Given the description of an element on the screen output the (x, y) to click on. 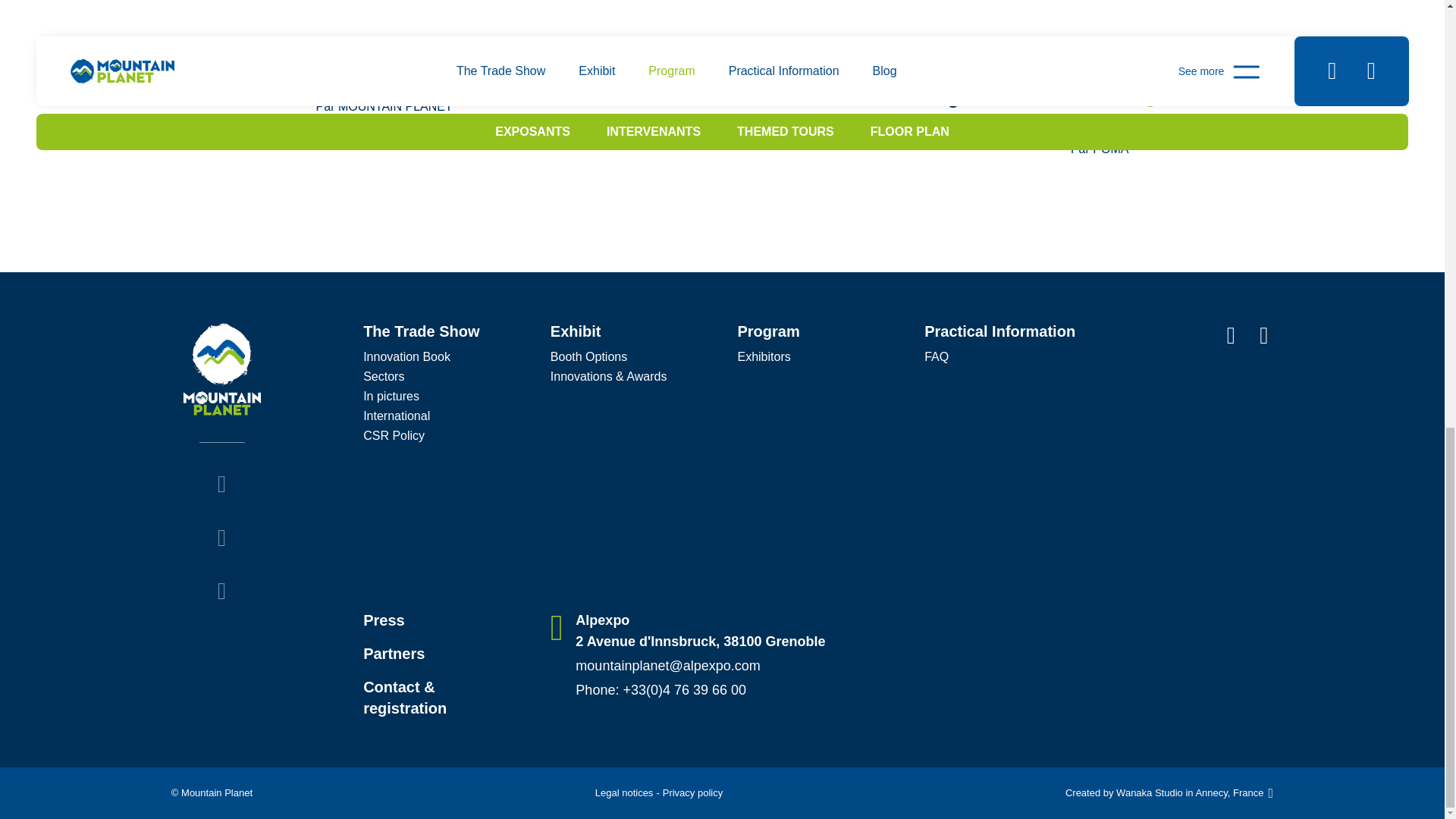
Twitter (220, 484)
HVO100 from TotalEnergies (463, 79)
Linkedin (220, 538)
Youtube (220, 591)
